Given the description of an element on the screen output the (x, y) to click on. 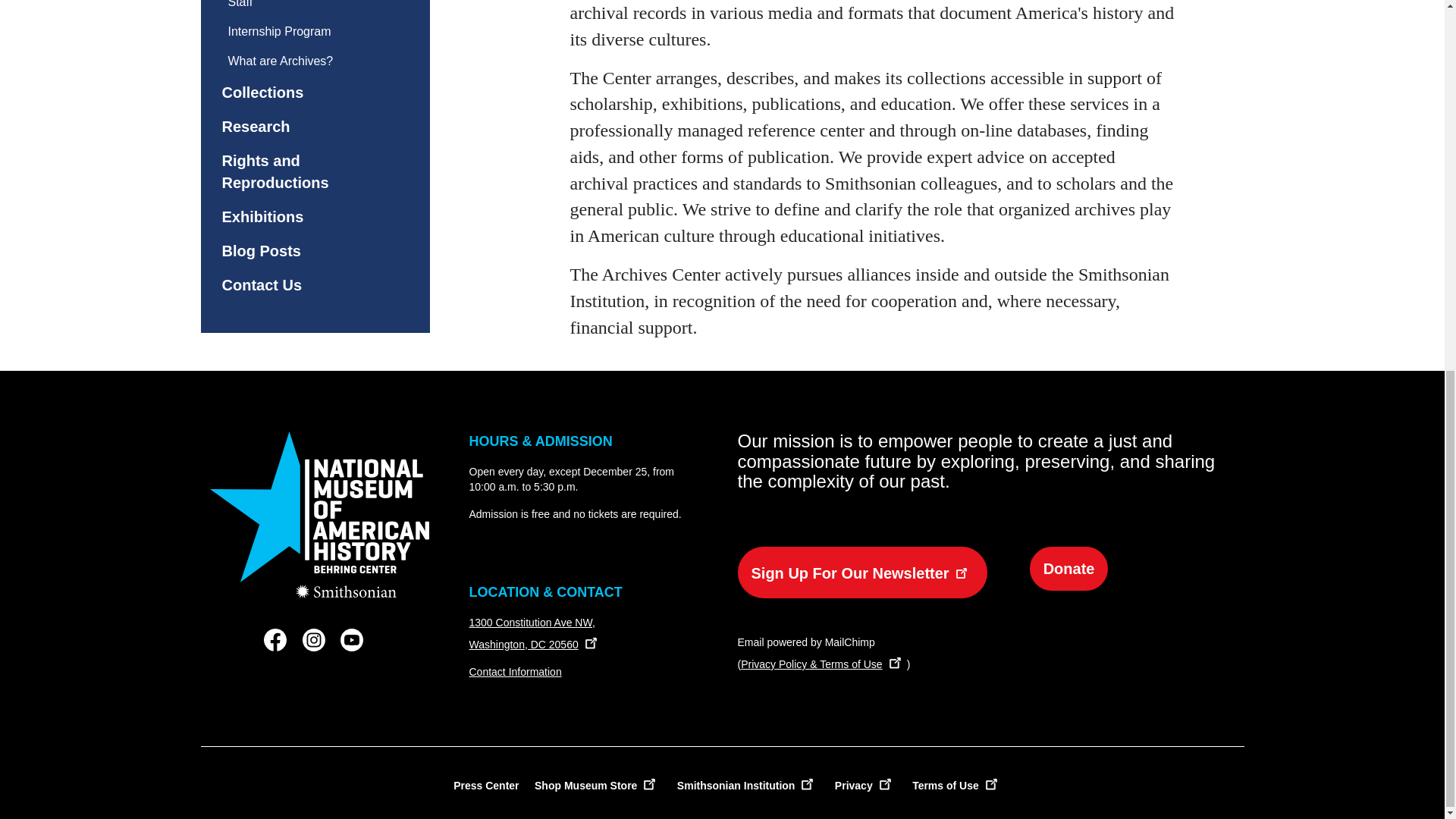
What are Archives? (302, 60)
Internship Program (302, 30)
Collections (302, 92)
Rights and Reproductions (302, 171)
Staff (302, 8)
Research (302, 126)
